Given the description of an element on the screen output the (x, y) to click on. 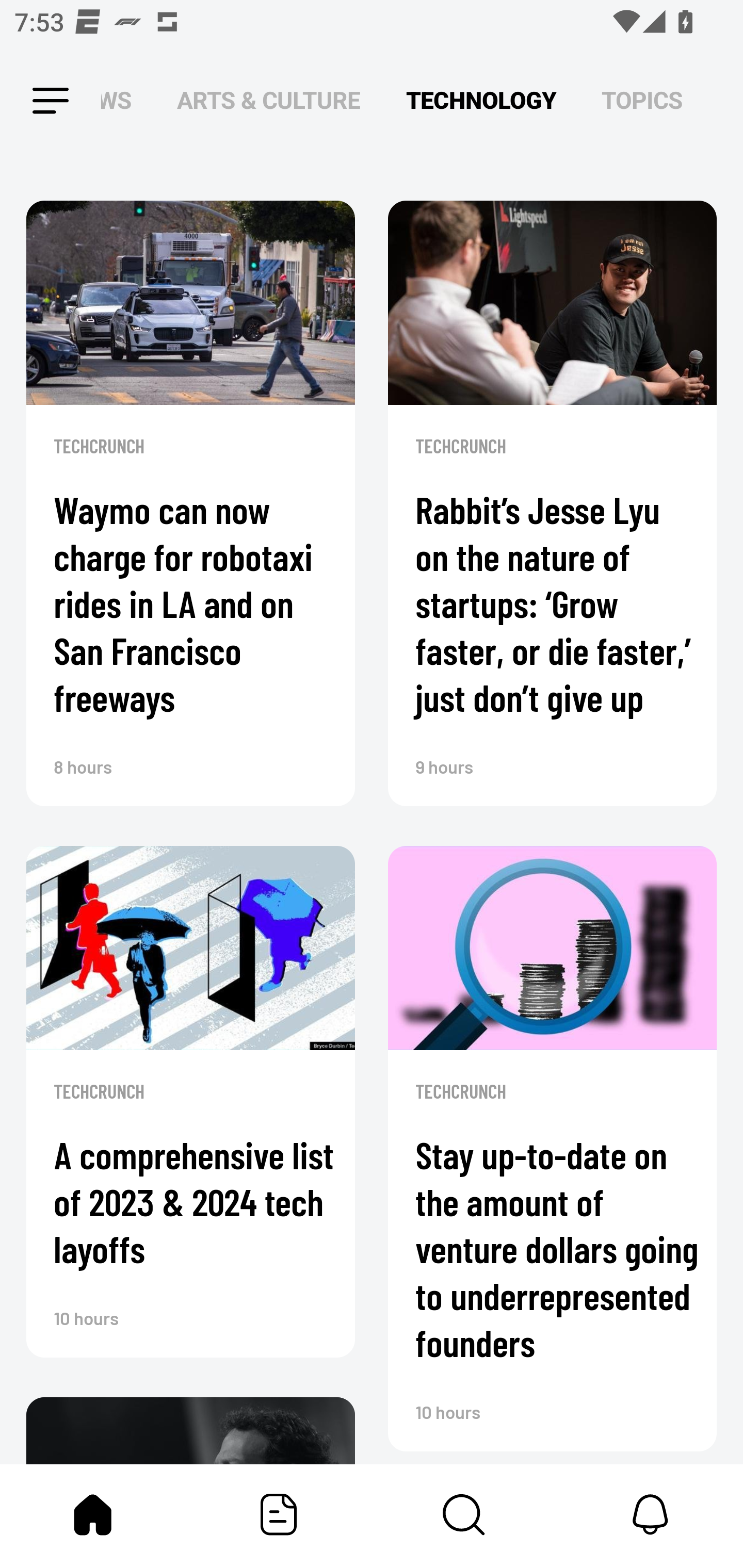
NEWS (121, 100)
ARTS & CULTURE (268, 100)
TOPICS (641, 100)
Featured (278, 1514)
Content Store (464, 1514)
Notifications (650, 1514)
